Given the description of an element on the screen output the (x, y) to click on. 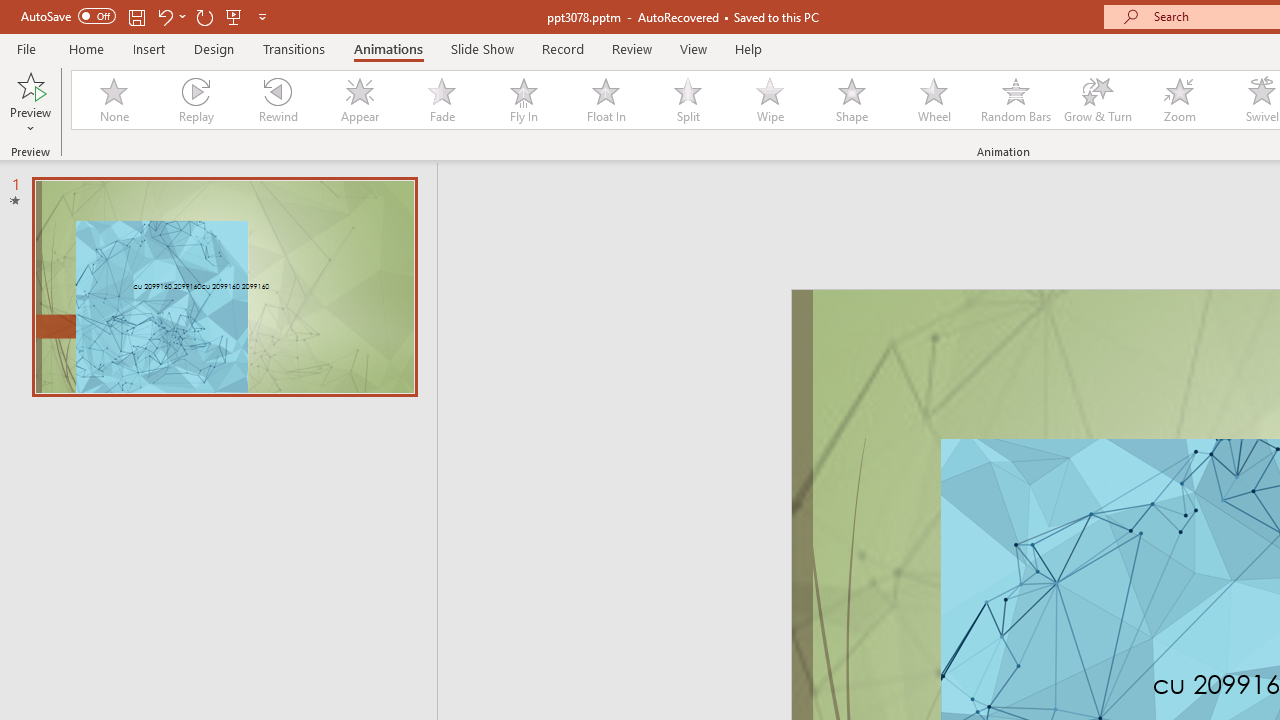
Replay (195, 100)
Wheel (934, 100)
